Given the description of an element on the screen output the (x, y) to click on. 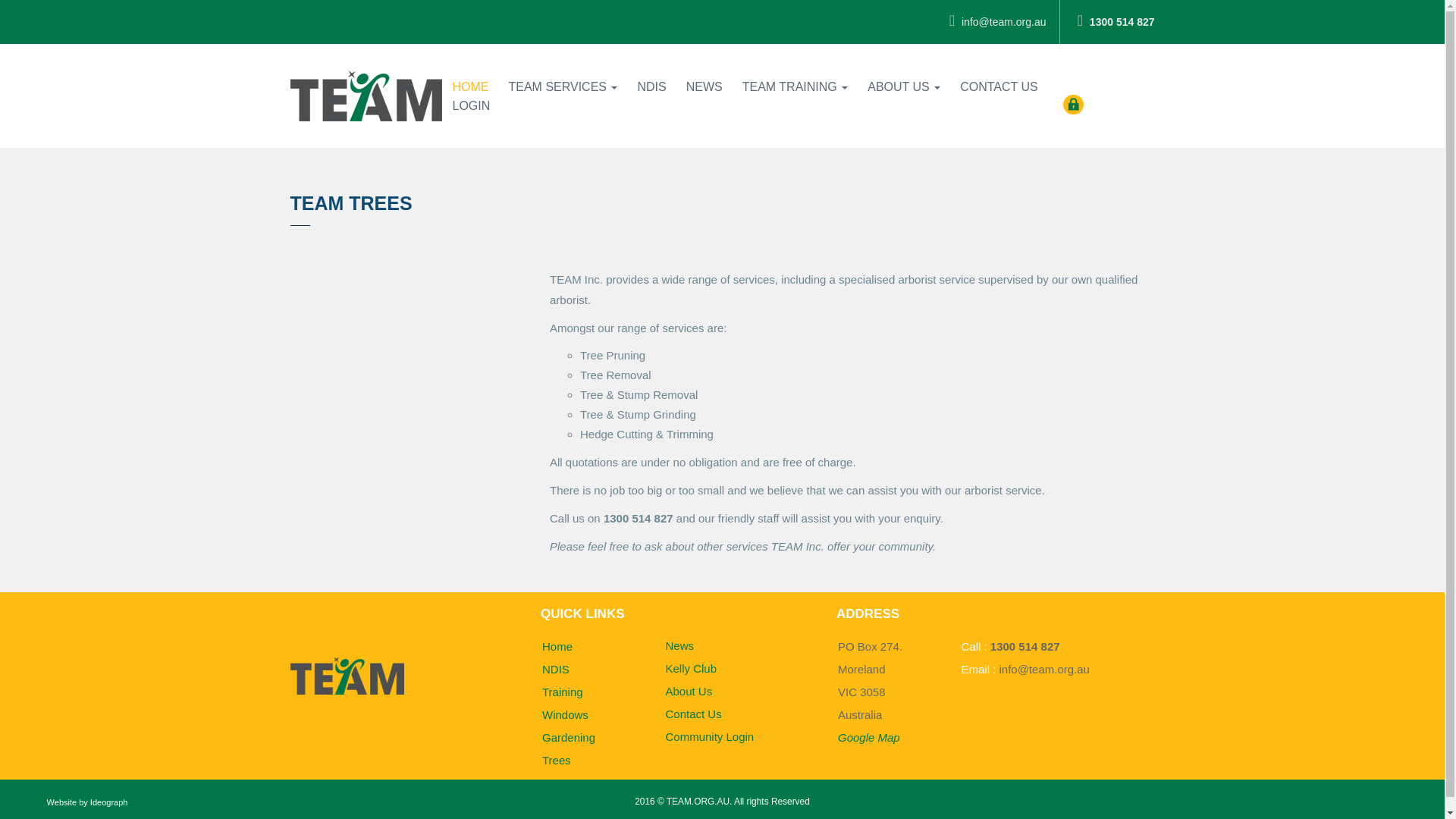
About Us (688, 690)
TEAM TRAINING (795, 87)
Community Login (709, 736)
NEWS (704, 87)
Kelly Club (690, 667)
NDIS (651, 87)
News (679, 645)
Home (556, 645)
Trees (555, 759)
Training (562, 691)
Windows (564, 714)
NDIS (555, 668)
HOME (470, 87)
1300 514 827 (1115, 22)
TEAM SERVICES (563, 87)
